Given the description of an element on the screen output the (x, y) to click on. 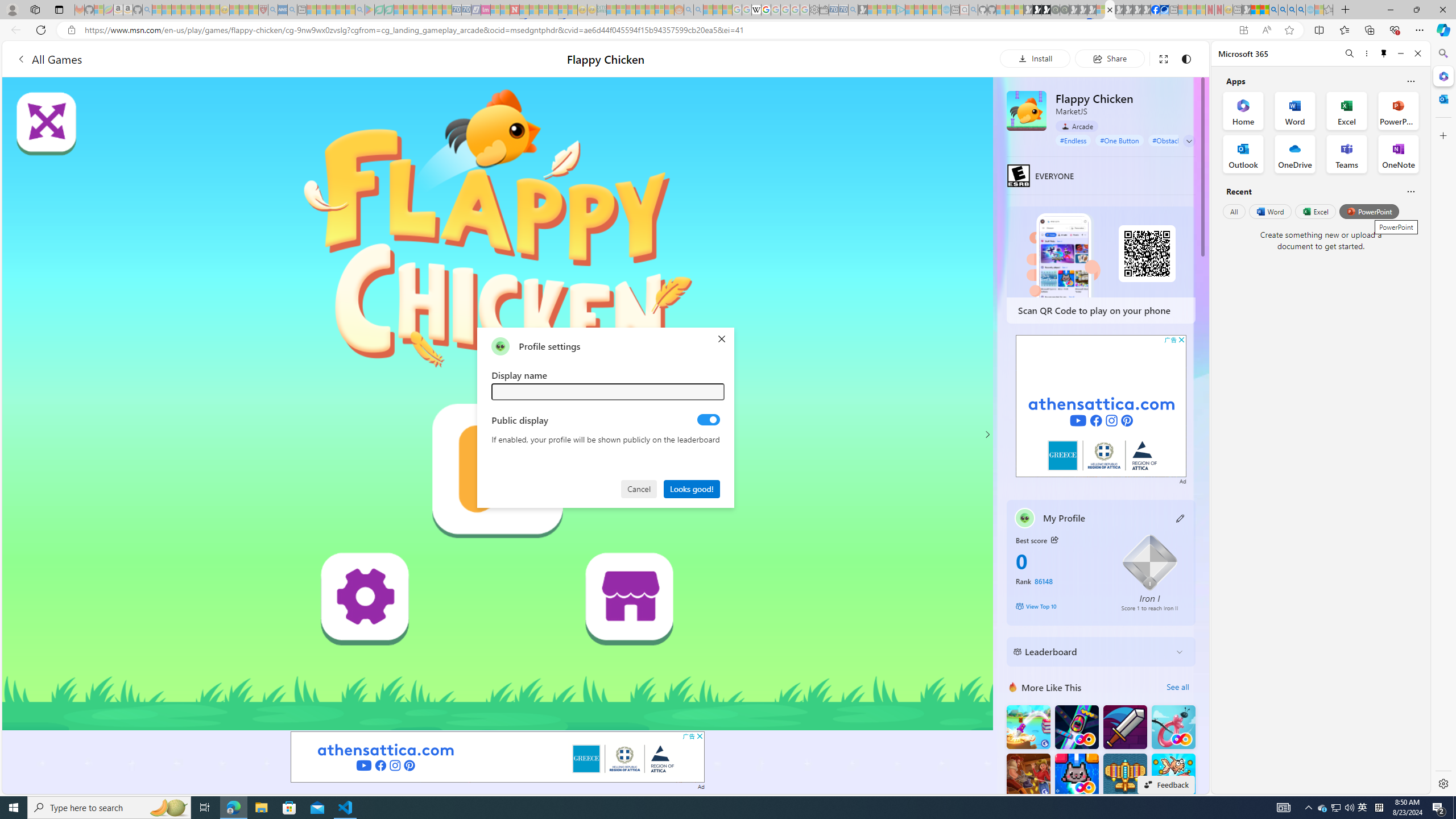
Class: expand-arrow neutral (1188, 141)
Close Microsoft 365 pane (1442, 76)
All Games (49, 58)
Bluey: Let's Play! - Apps on Google Play - Sleeping (369, 9)
Teams Office App (1346, 154)
github - Search - Sleeping (972, 9)
